Given the description of an element on the screen output the (x, y) to click on. 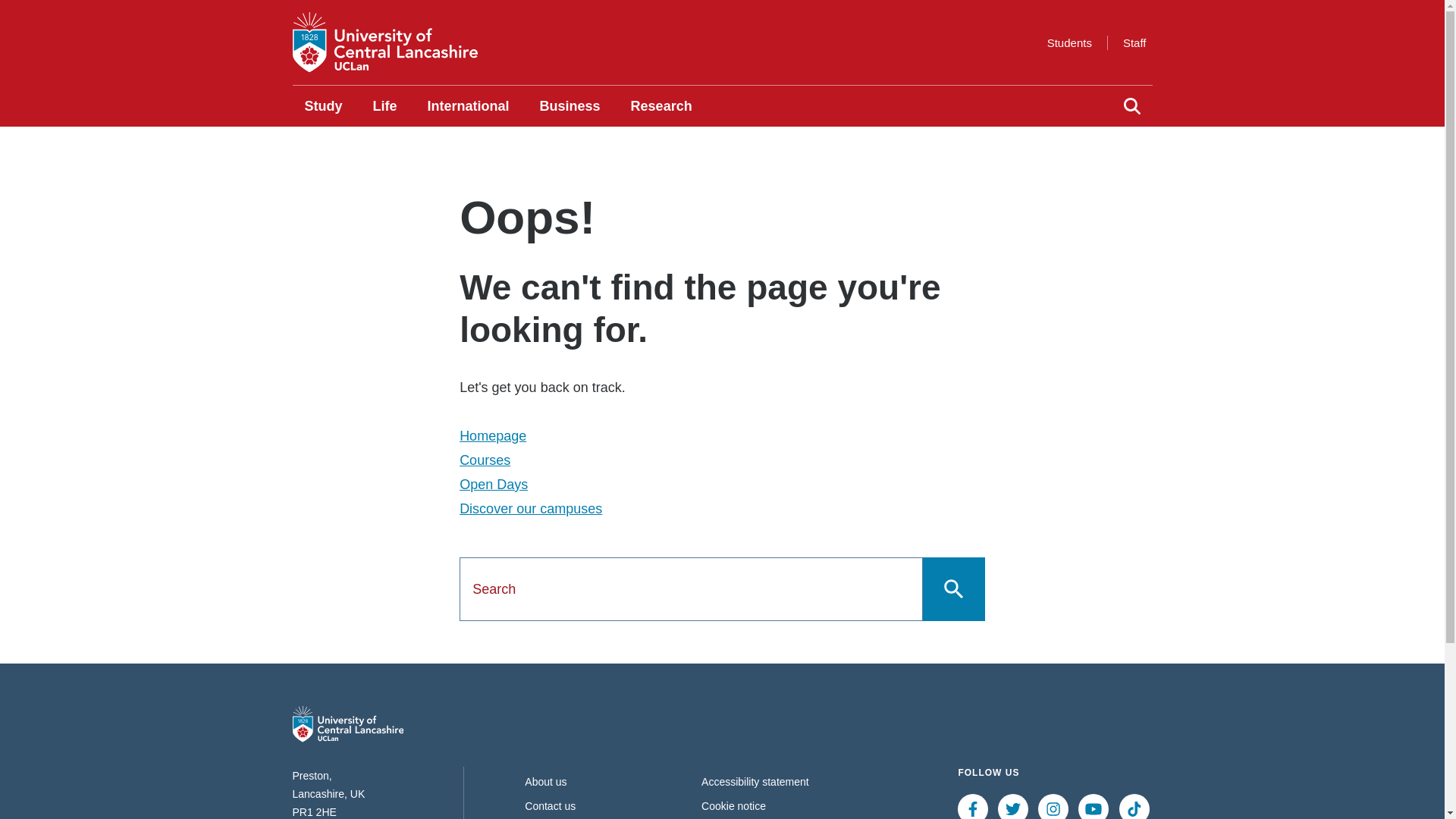
Contact us (549, 806)
Research (661, 105)
Cookie notice (733, 806)
Business (569, 105)
About us (545, 781)
Open Days (493, 484)
Courses (485, 459)
Accessibility statement (755, 781)
Students (1069, 42)
Staff (1134, 42)
Homepage (492, 435)
Study (323, 105)
Discover our campuses (531, 508)
Life (385, 105)
International (467, 105)
